Given the description of an element on the screen output the (x, y) to click on. 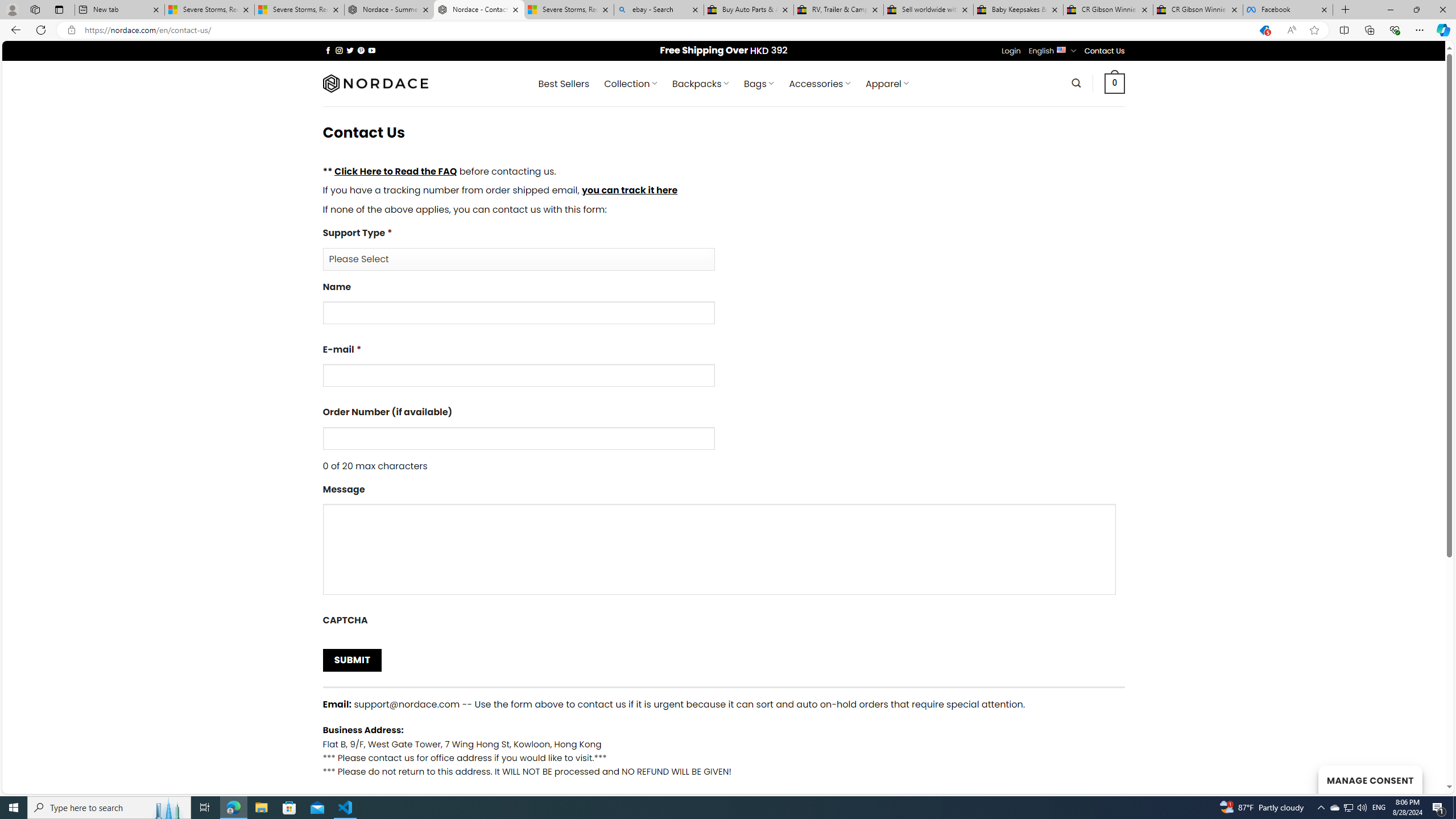
E-mail* (723, 369)
English (1061, 49)
